Given the description of an element on the screen output the (x, y) to click on. 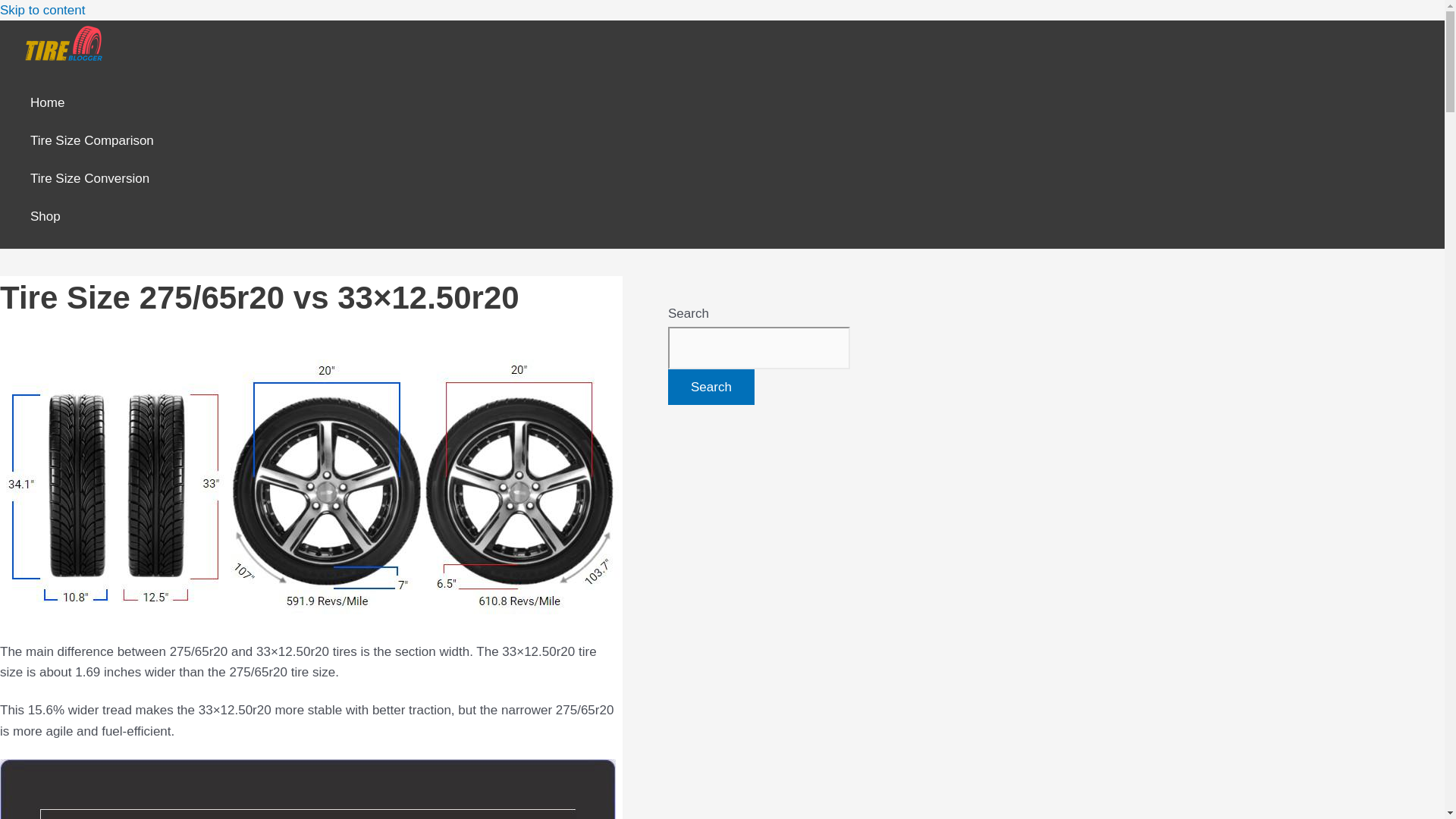
Search (711, 386)
Tire Size Comparison (92, 140)
Shop (92, 216)
Home (92, 103)
Skip to content (42, 10)
Skip to content (42, 10)
Tire Size Conversion (92, 178)
